Given the description of an element on the screen output the (x, y) to click on. 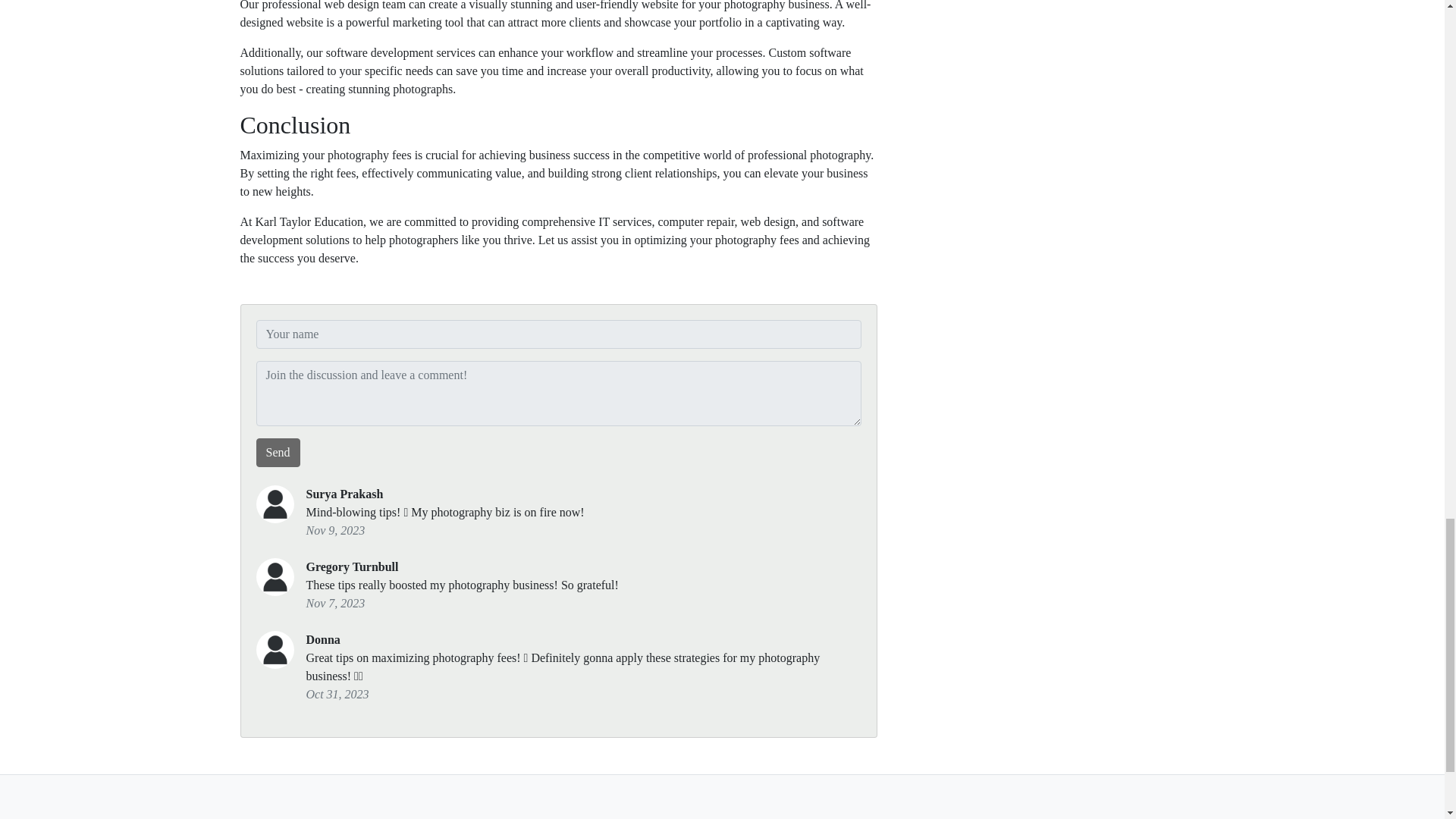
Terms of service (763, 815)
Privacy policy (675, 815)
Send (277, 452)
Send (277, 452)
